Given the description of an element on the screen output the (x, y) to click on. 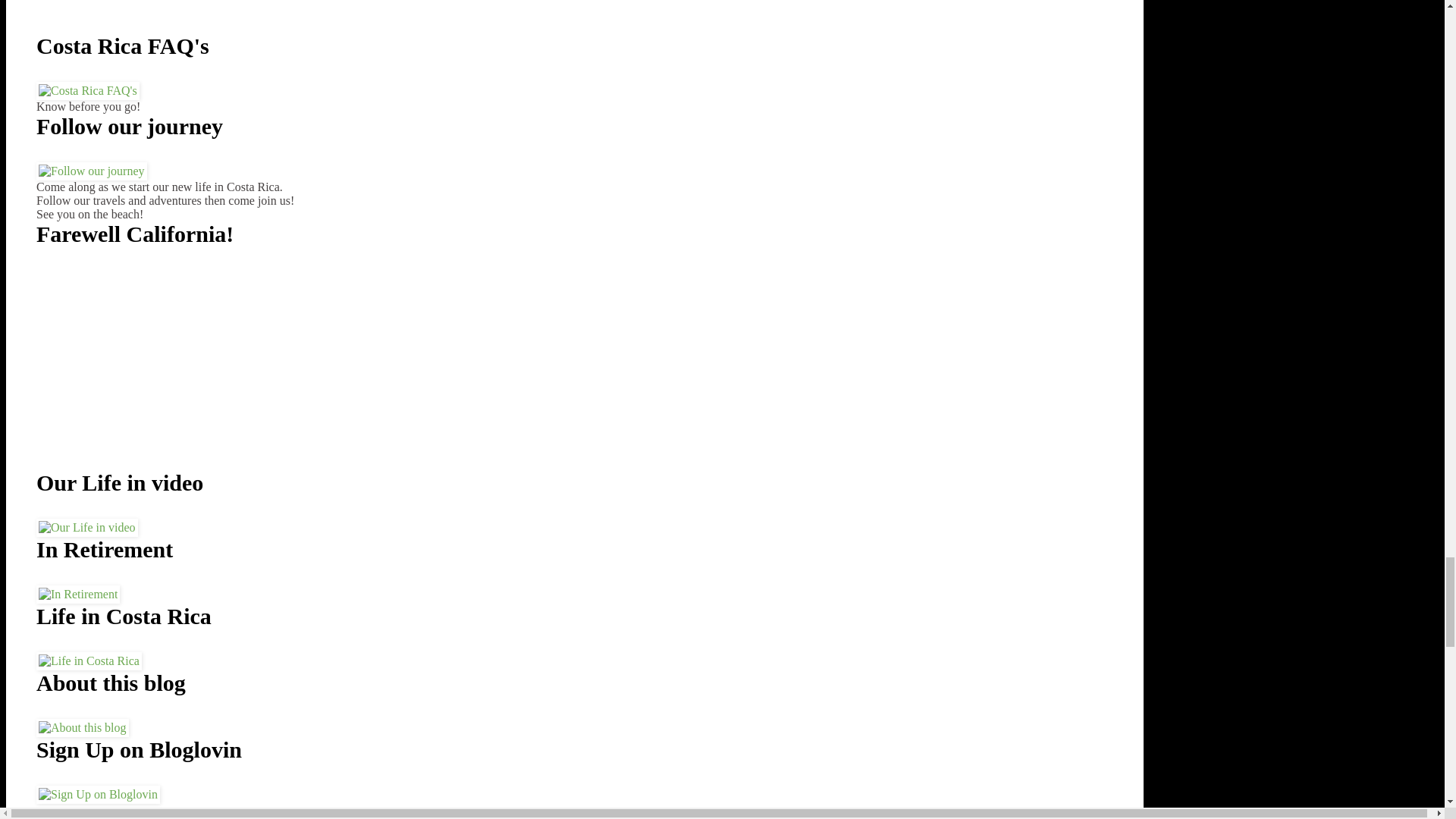
YouTube video player (165, 368)
YouTube video player (165, 15)
